Given the description of an element on the screen output the (x, y) to click on. 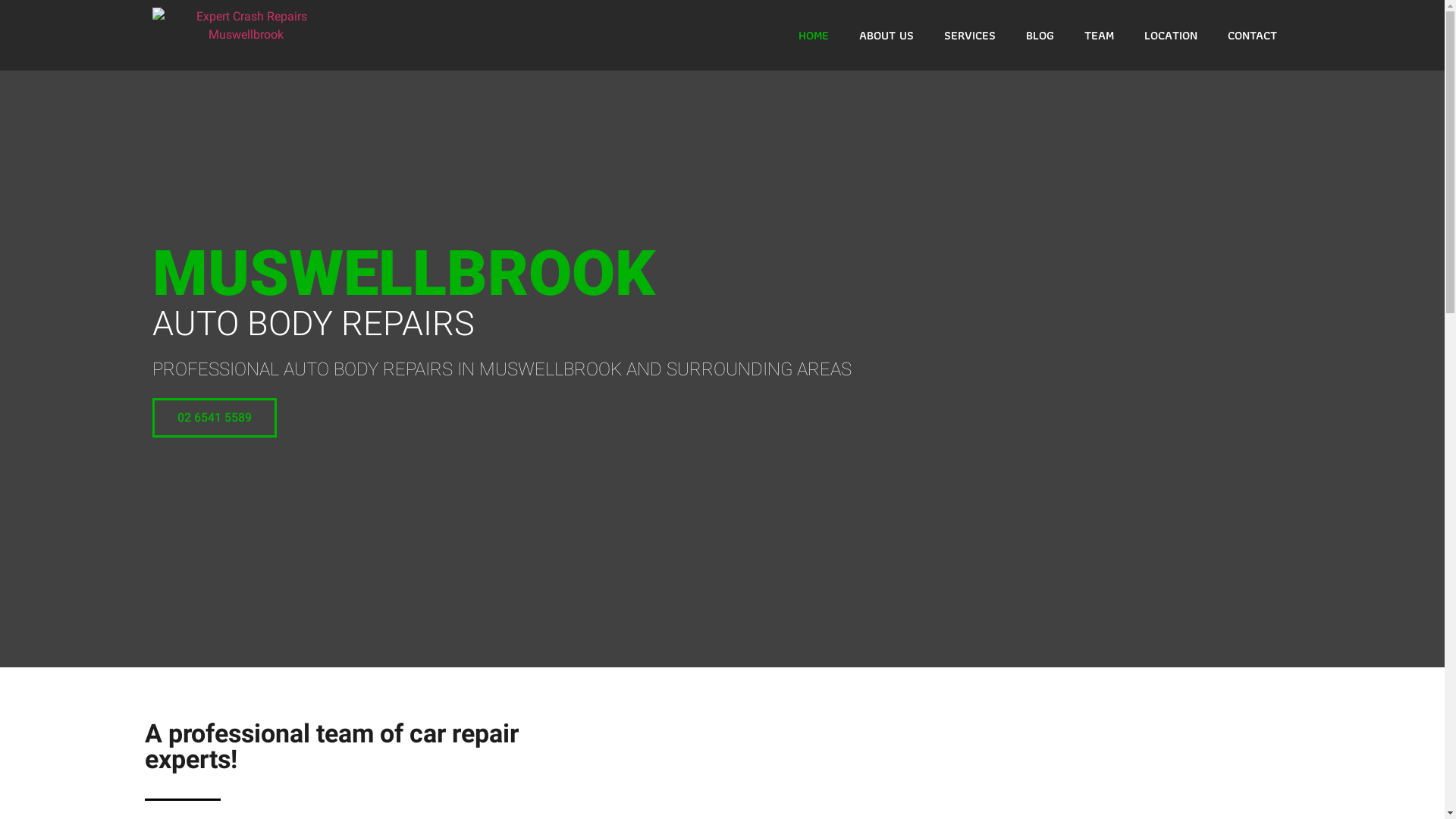
SERVICES Element type: text (969, 35)
BLOG Element type: text (1039, 35)
CONTACT Element type: text (1252, 35)
HOME Element type: text (813, 35)
02 6541 5589 Element type: text (213, 417)
TEAM Element type: text (1099, 35)
ABOUT US Element type: text (886, 35)
LOCATION Element type: text (1170, 35)
